Given the description of an element on the screen output the (x, y) to click on. 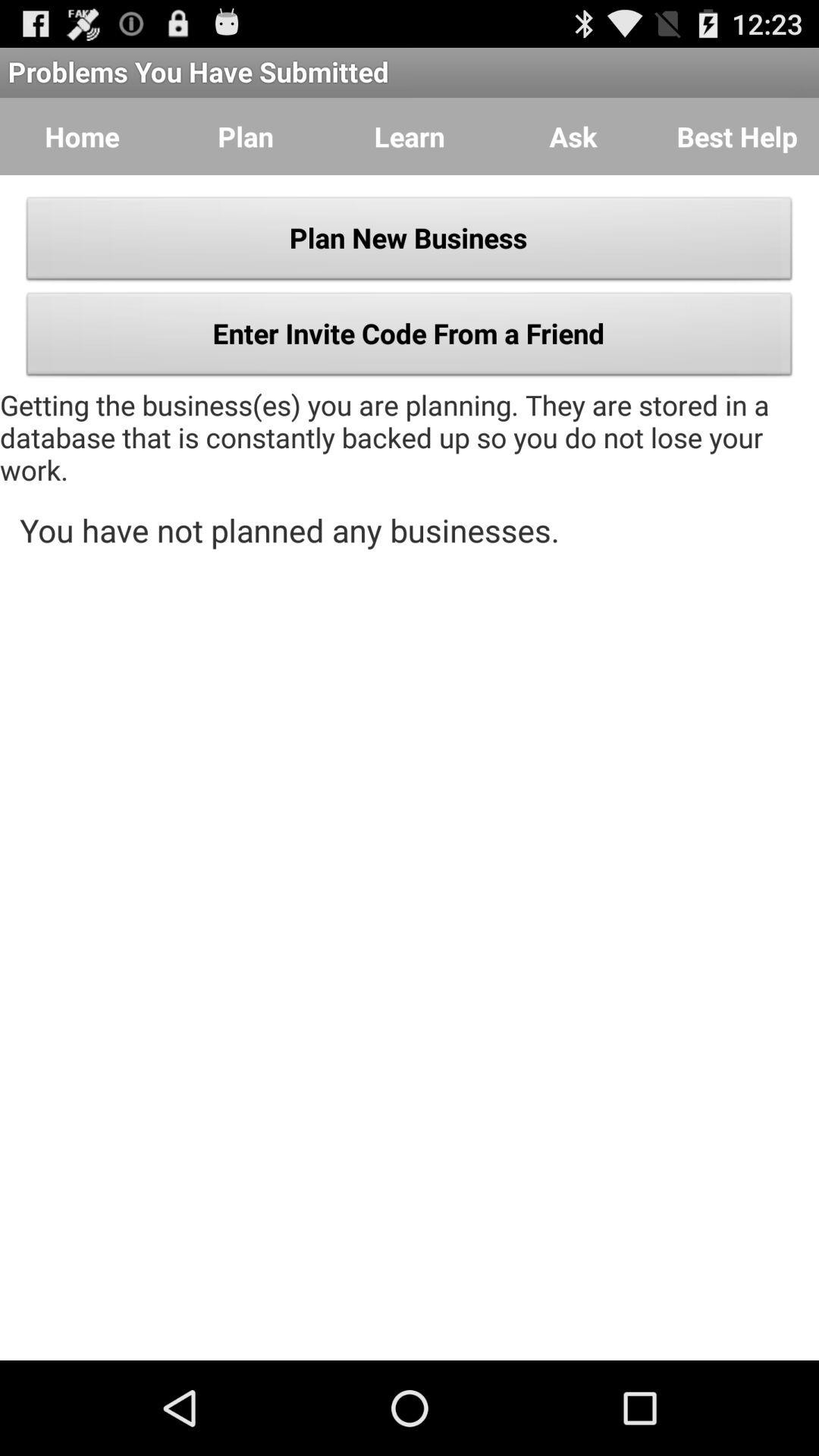
scroll to plan new business (409, 242)
